Given the description of an element on the screen output the (x, y) to click on. 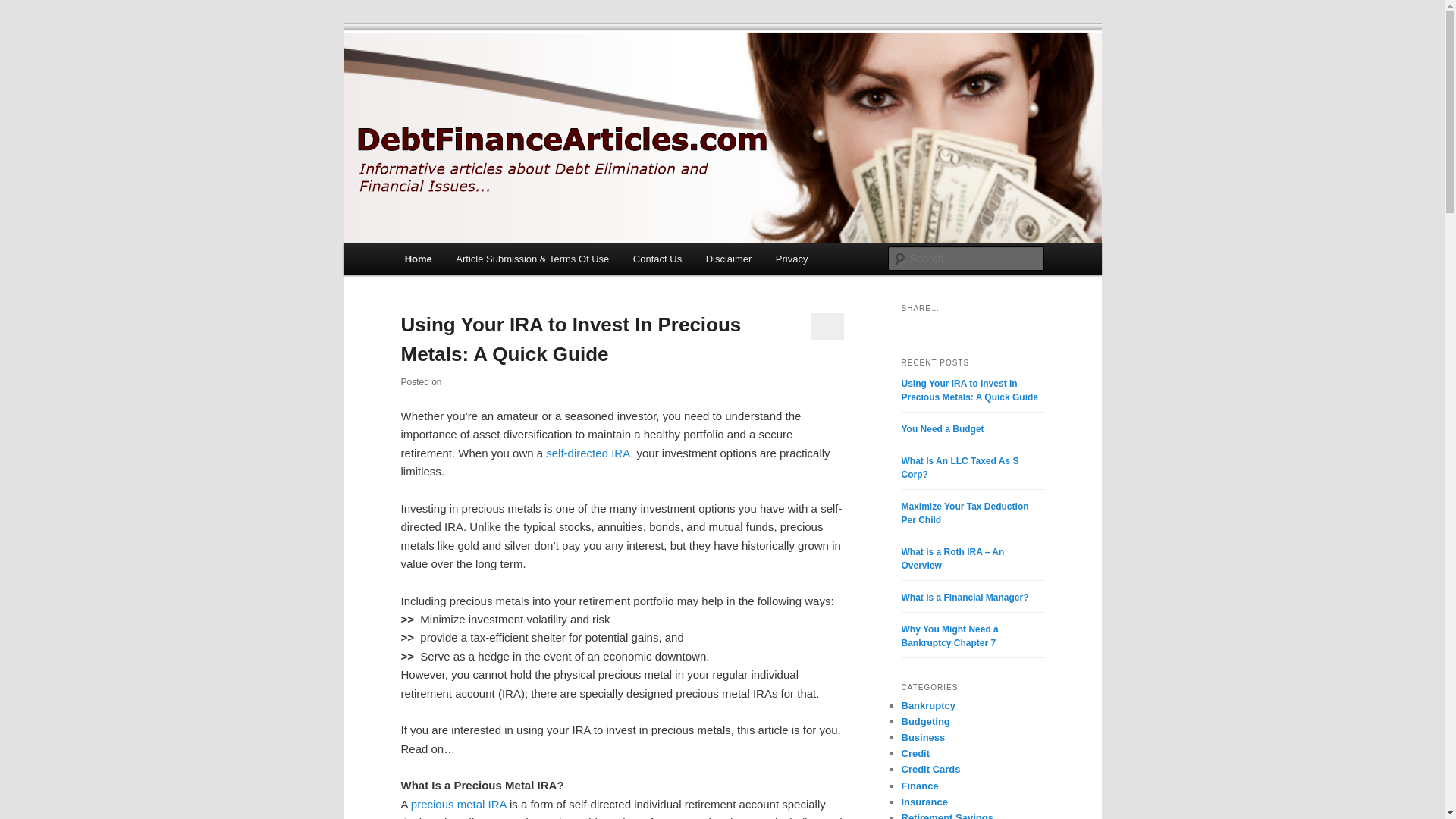
Using Your IRA to Invest In Precious Metals: A Quick Guide (570, 338)
Search (24, 8)
Home (418, 258)
self-directed IRA (588, 452)
Privacy (790, 258)
precious metal IRA (458, 803)
Contact Us (657, 258)
DebtFinanceArticles.com (536, 78)
Disclaimer (728, 258)
